Given the description of an element on the screen output the (x, y) to click on. 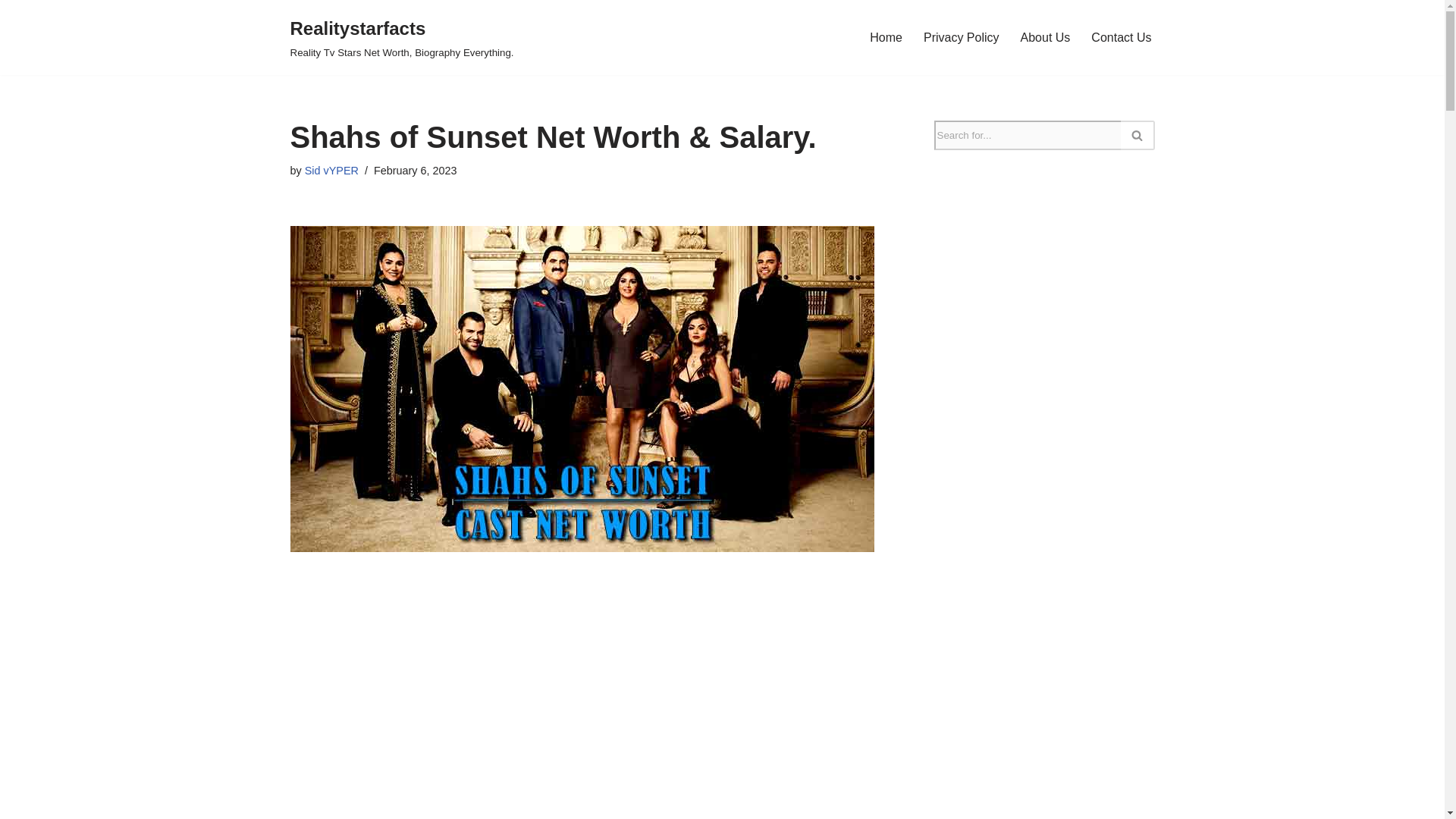
Posts by Sid vYPER (331, 170)
Privacy Policy (960, 37)
Home (885, 37)
Contact Us (1120, 37)
Sid vYPER (331, 170)
Skip to content (11, 31)
Advertisement (588, 709)
About Us (1045, 37)
